Given the description of an element on the screen output the (x, y) to click on. 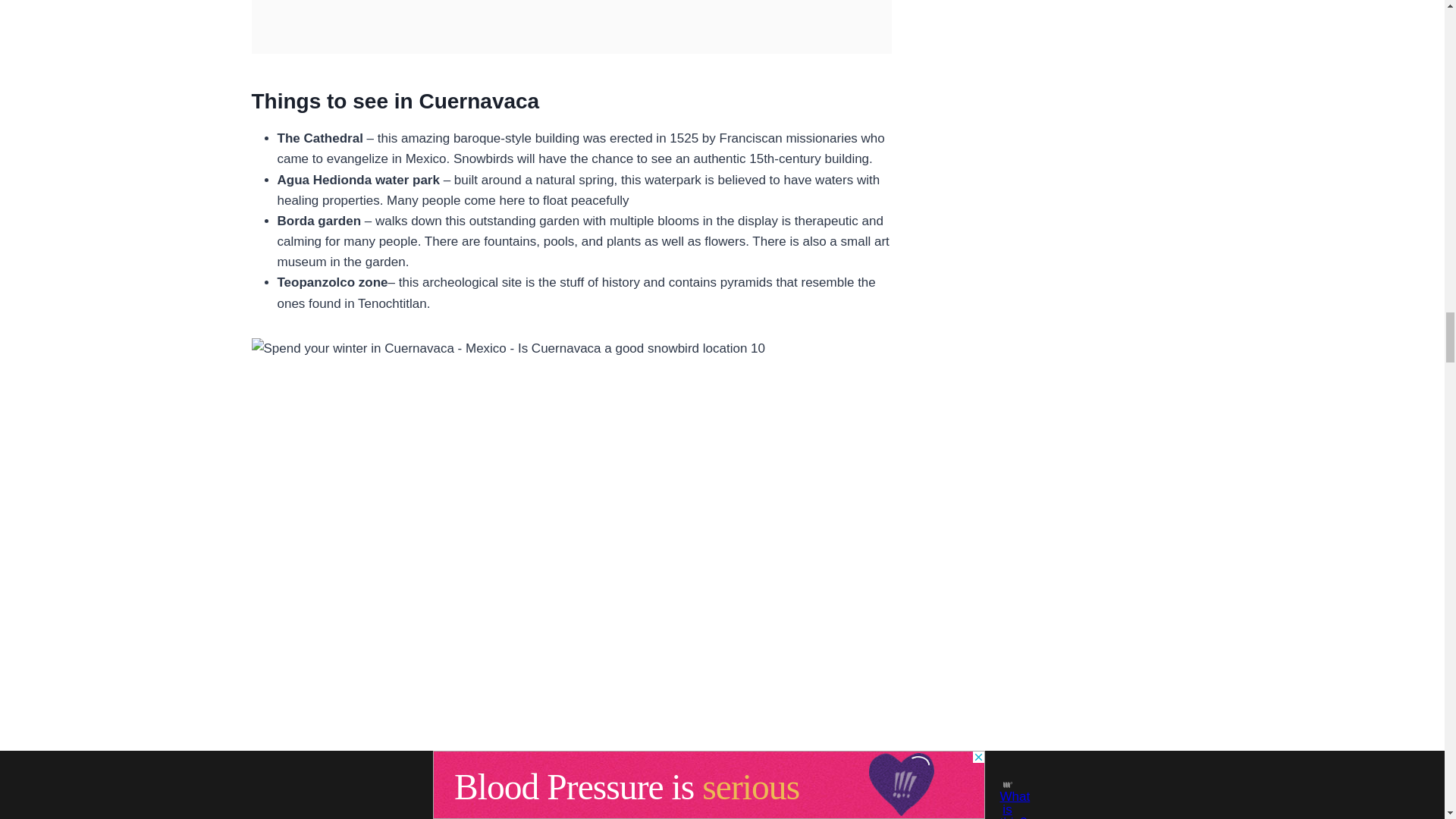
Thelmadatter (533, 779)
CC BY-SA 3.0 (607, 779)
